Given the description of an element on the screen output the (x, y) to click on. 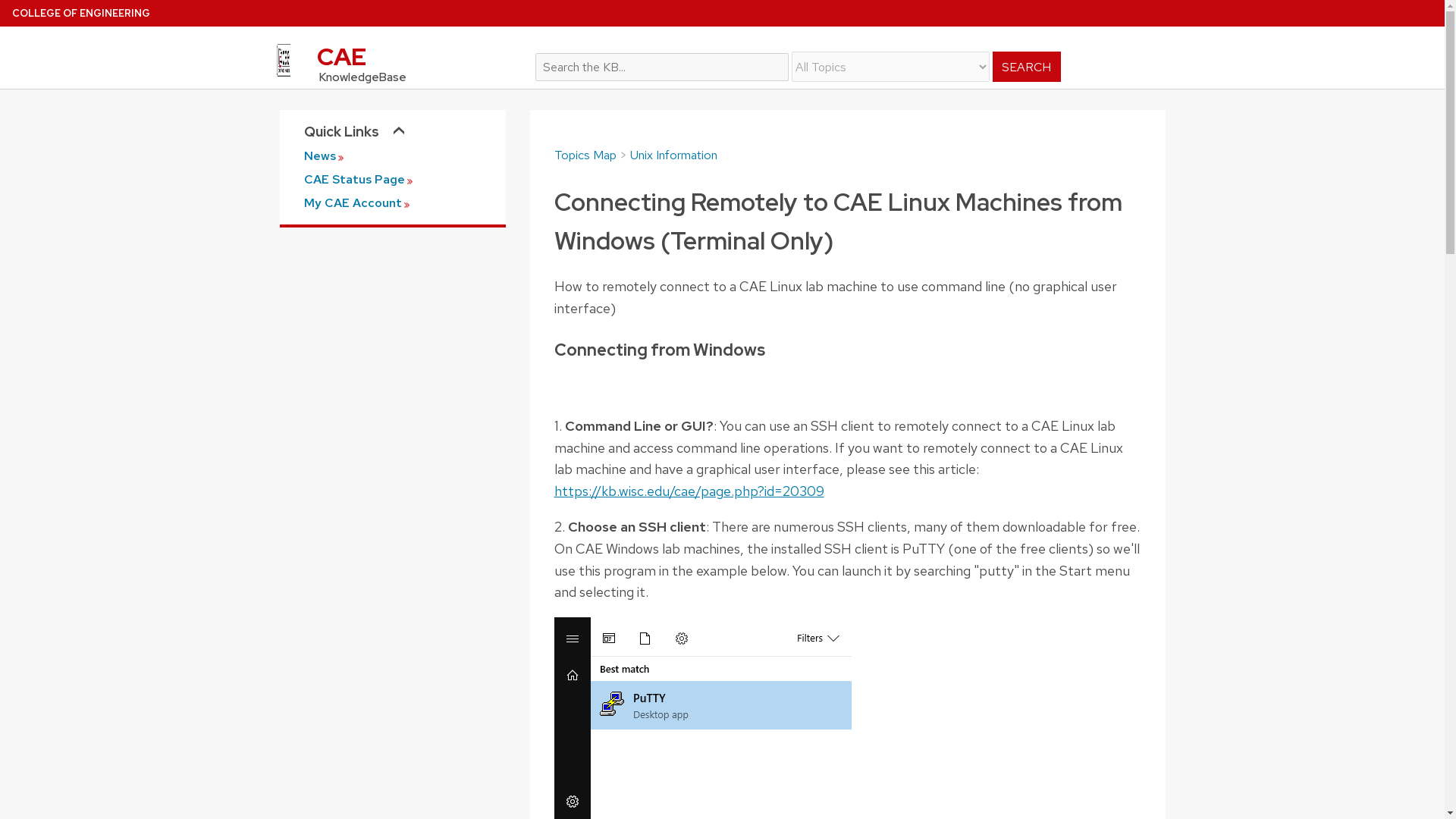
My CAE Account (391, 203)
CAE (394, 60)
Unix Information (672, 154)
Locating PuTTY client on CAE Windows lab machines (701, 718)
Topics Map (584, 154)
COLLEGE OF ENGINEERING (80, 12)
CAE Status Page (391, 179)
News (391, 155)
SEARCH (1026, 66)
SEARCH (1026, 66)
SEARCH (1026, 66)
Search (849, 57)
